Given the description of an element on the screen output the (x, y) to click on. 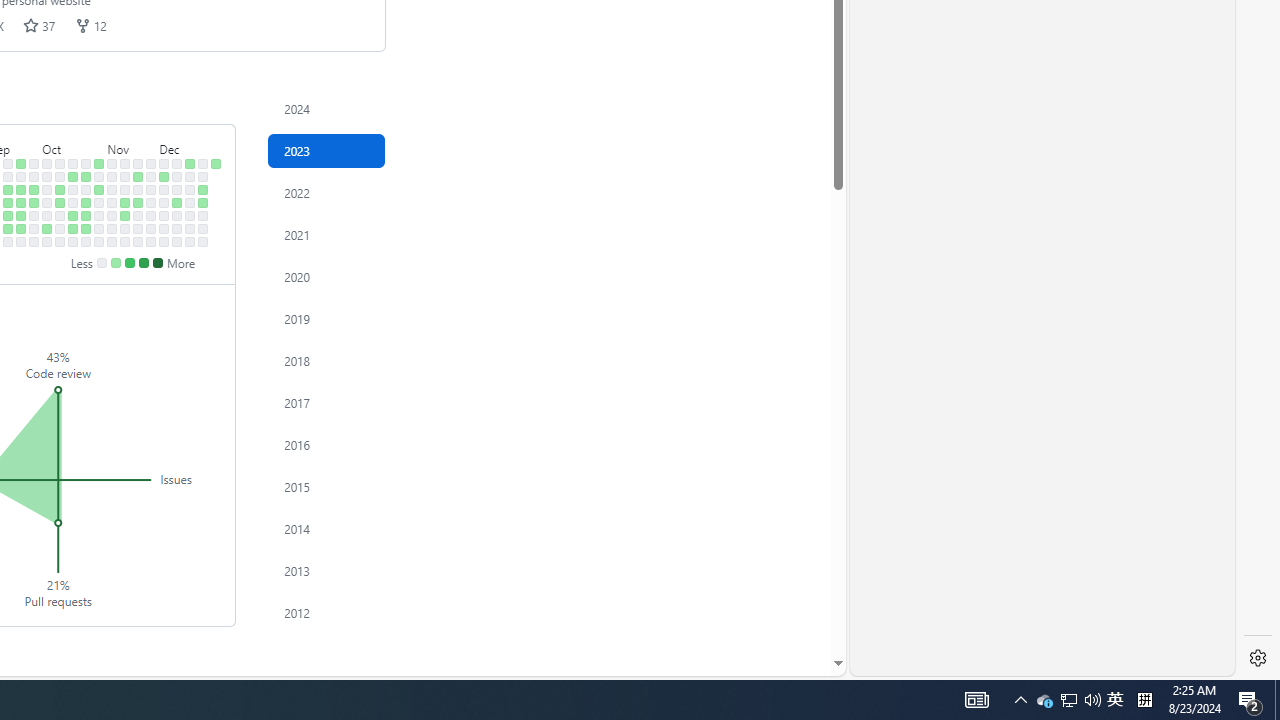
No contributions on December 23rd. (190, 241)
No contributions on October 17th. (73, 189)
2012 (326, 612)
No contributions on November 5th. (112, 163)
No contributions on October 22nd. (86, 163)
No contributions on October 30th. (98, 176)
No contributions on October 7th. (47, 241)
Contribution activity in 2015 (326, 485)
No contributions on October 12th. (60, 215)
2 contributions on September 19th. (20, 189)
No contributions on November 19th. (138, 163)
No contributions on November 6th. (112, 176)
2 contributions on October 26th. (86, 215)
2013 (326, 570)
1 contribution on September 14th. (8, 215)
